Given the description of an element on the screen output the (x, y) to click on. 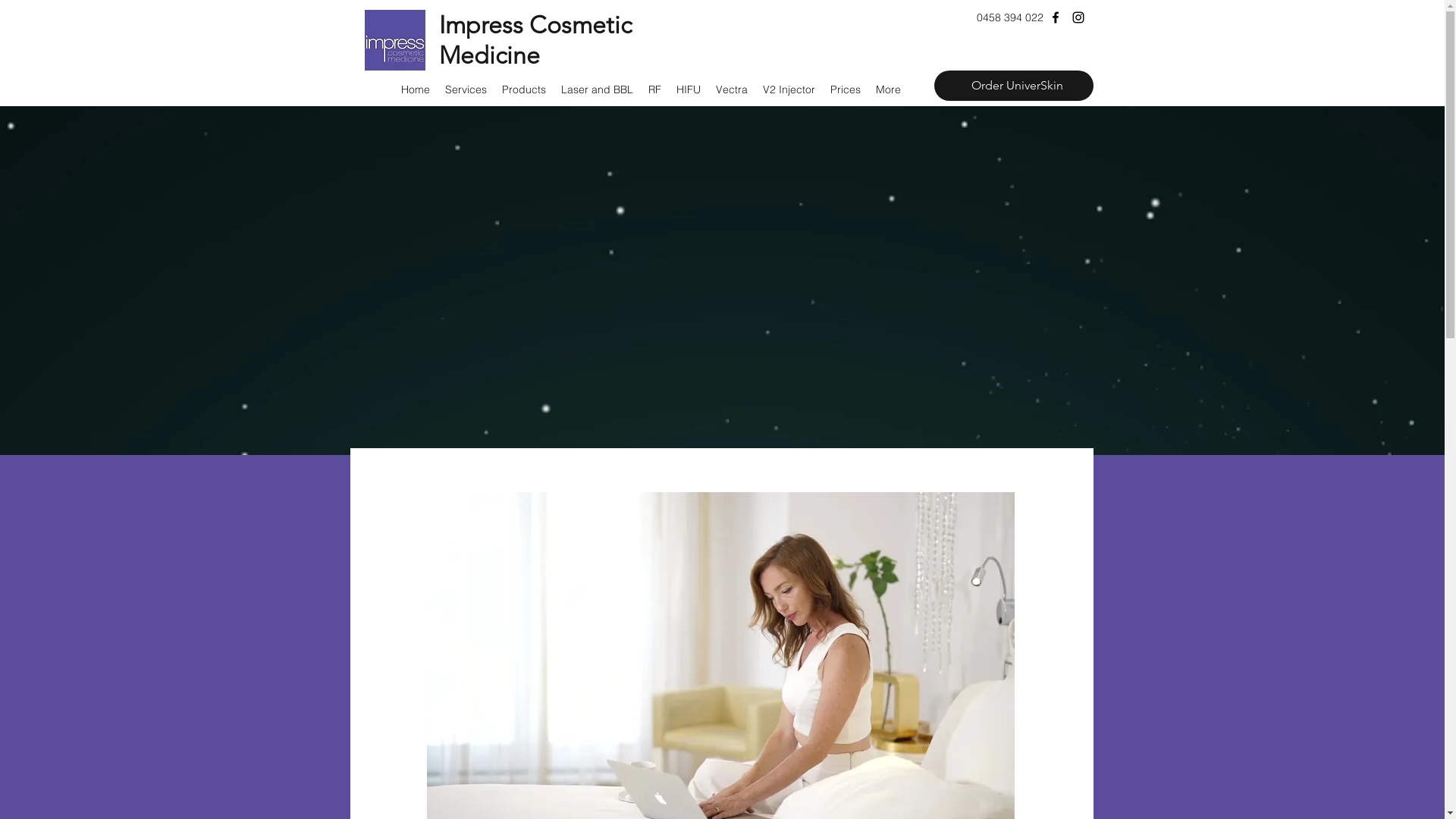
Order UniverSkin Element type: text (1017, 85)
V2 Injector Element type: text (788, 89)
Laser and BBL Element type: text (596, 89)
Prices Element type: text (844, 89)
Services Element type: text (464, 89)
Products Element type: text (523, 89)
Home Element type: text (414, 89)
Vectra Element type: text (731, 89)
HIFU Element type: text (688, 89)
RF Element type: text (654, 89)
Order UniverSkin Element type: text (1009, 85)
